Given the description of an element on the screen output the (x, y) to click on. 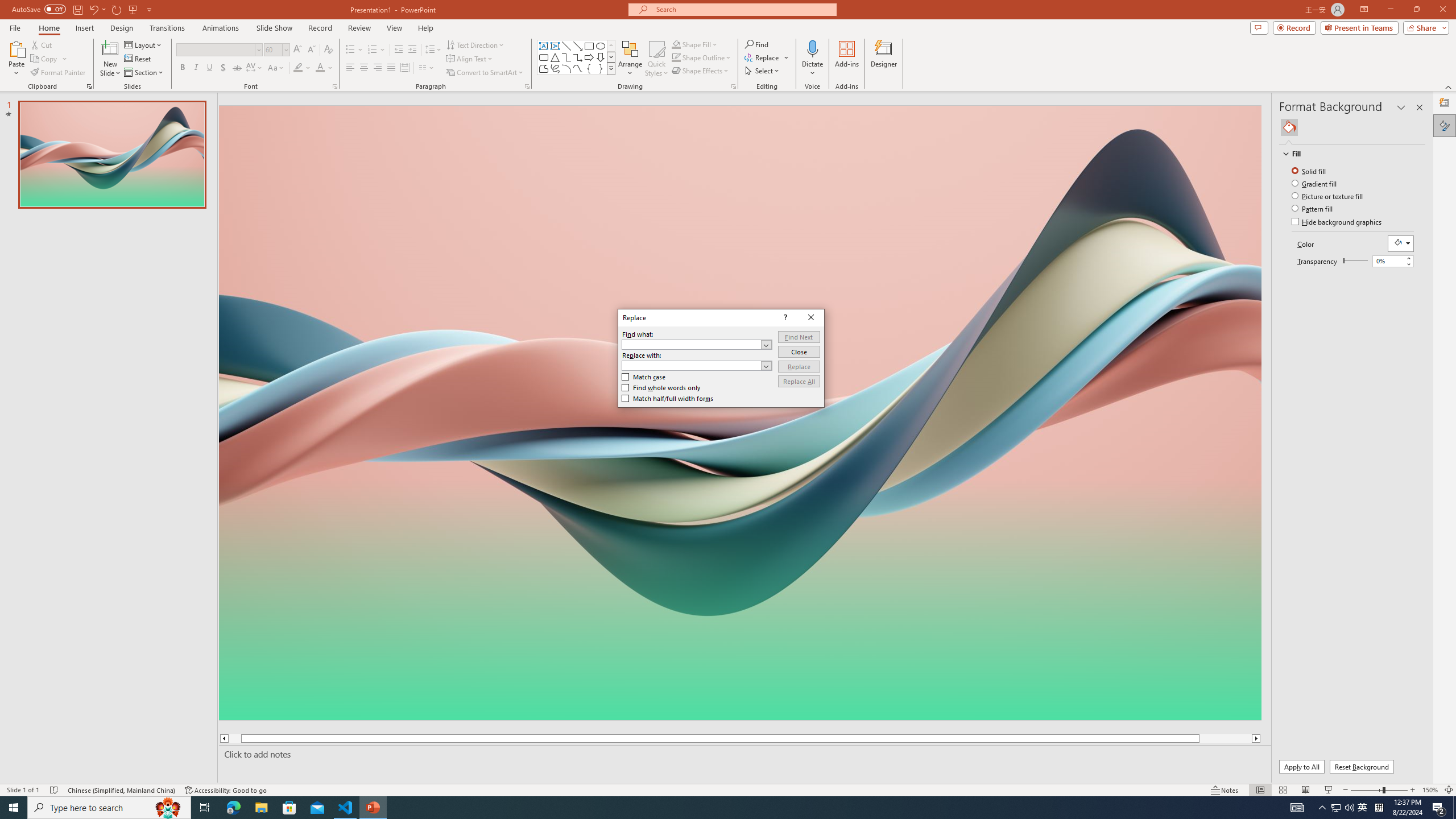
Format Background (1444, 125)
Replace with (696, 365)
